Given the description of an element on the screen output the (x, y) to click on. 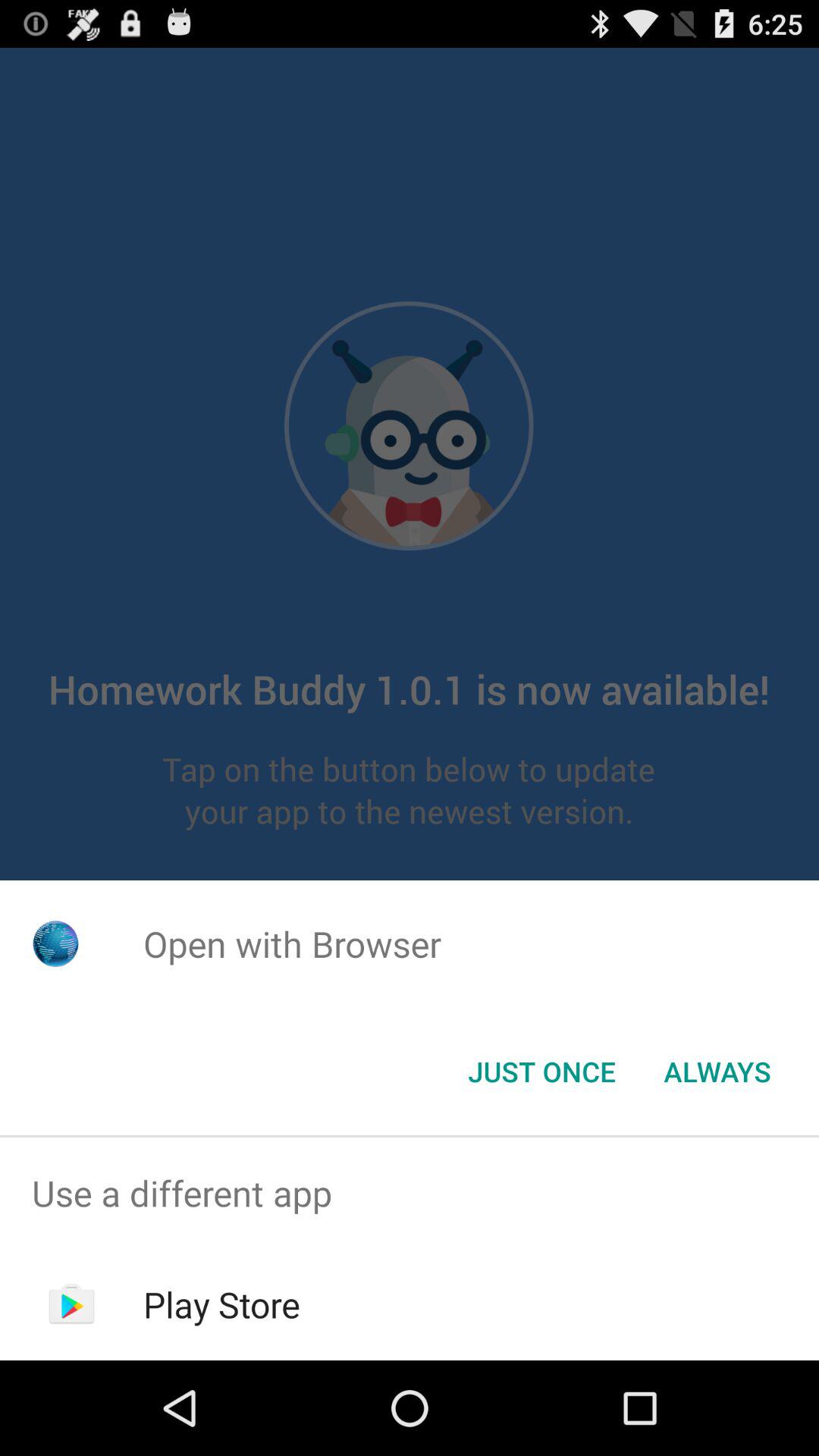
select the button to the left of the always item (541, 1071)
